Given the description of an element on the screen output the (x, y) to click on. 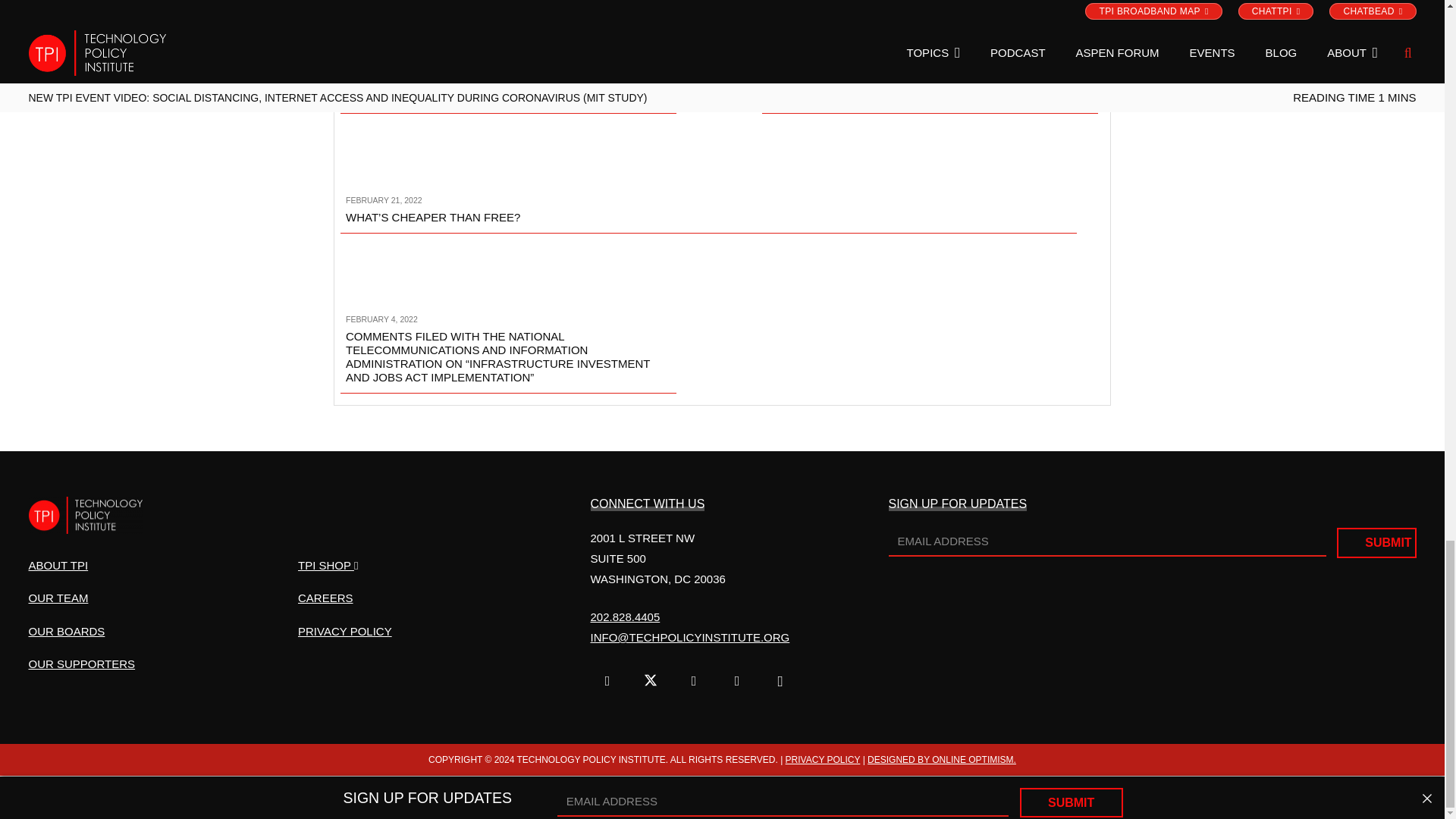
LinkedIn (737, 681)
Submit (1375, 542)
Facebook (606, 681)
Twitter (650, 681)
YouTube (693, 681)
Instagram (779, 681)
